Given the description of an element on the screen output the (x, y) to click on. 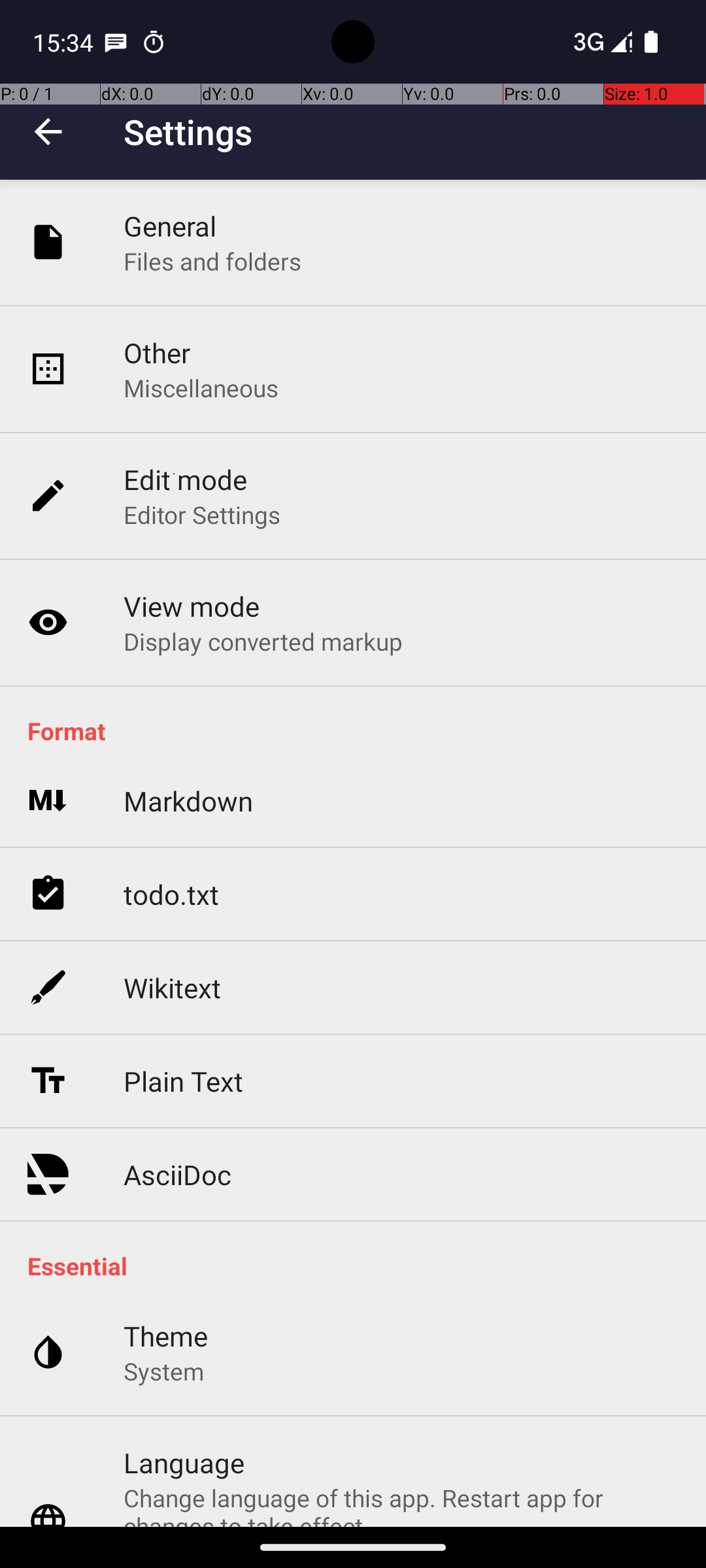
Essential Element type: android.widget.TextView (359, 1265)
Files and folders Element type: android.widget.TextView (212, 260)
Editor Settings Element type: android.widget.TextView (202, 514)
Display converted markup Element type: android.widget.TextView (263, 640)
Change language of this app. Restart app for changes to take effect

English (English, United States) Element type: android.widget.TextView (400, 1503)
